Given the description of an element on the screen output the (x, y) to click on. 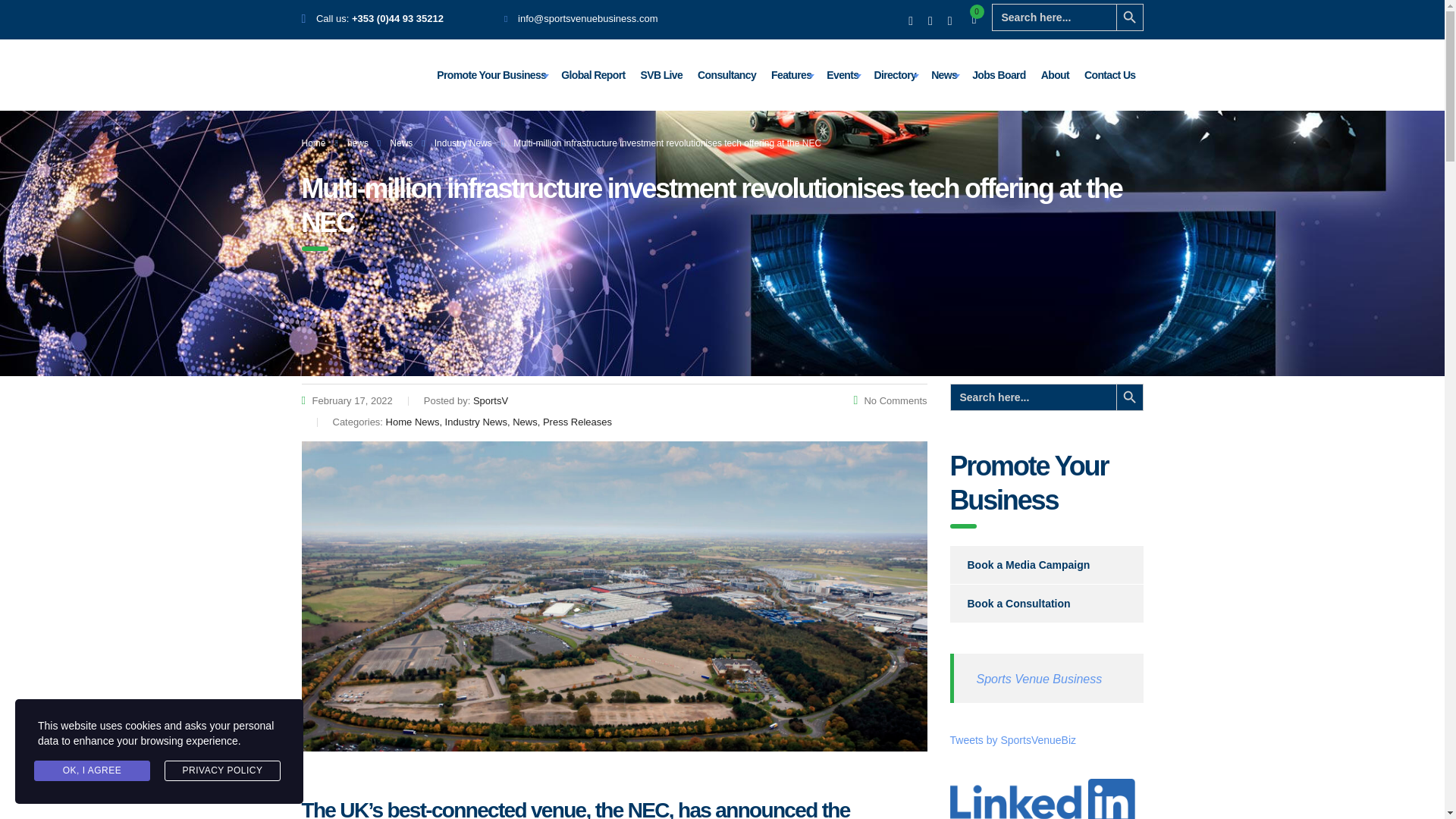
Global Report (592, 74)
Go to news. (357, 143)
Go to the Industry News category archives. (462, 143)
SVB Live (661, 74)
Go to the News category archives. (401, 143)
Page 1 (614, 801)
Directory (894, 74)
Consultancy (726, 74)
Events (842, 74)
Promote Your Business (491, 74)
